Given the description of an element on the screen output the (x, y) to click on. 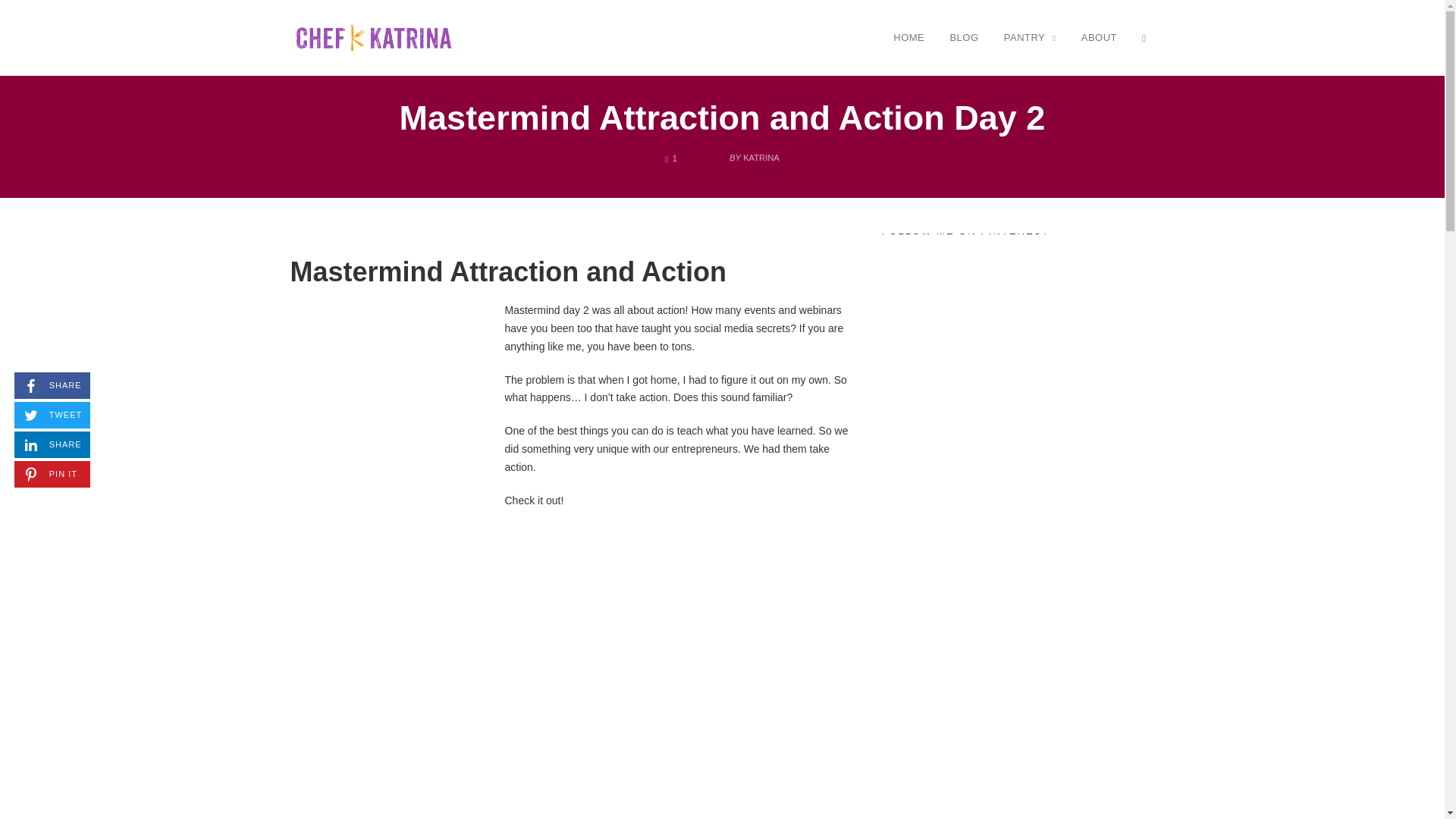
PANTRY (1029, 37)
ABOUT (52, 444)
Chef Katrina (1099, 37)
BLOG (373, 37)
BY KATRINA (52, 385)
Mastermind Attraction and Action Day 2 (671, 157)
HOME (963, 37)
